Given the description of an element on the screen output the (x, y) to click on. 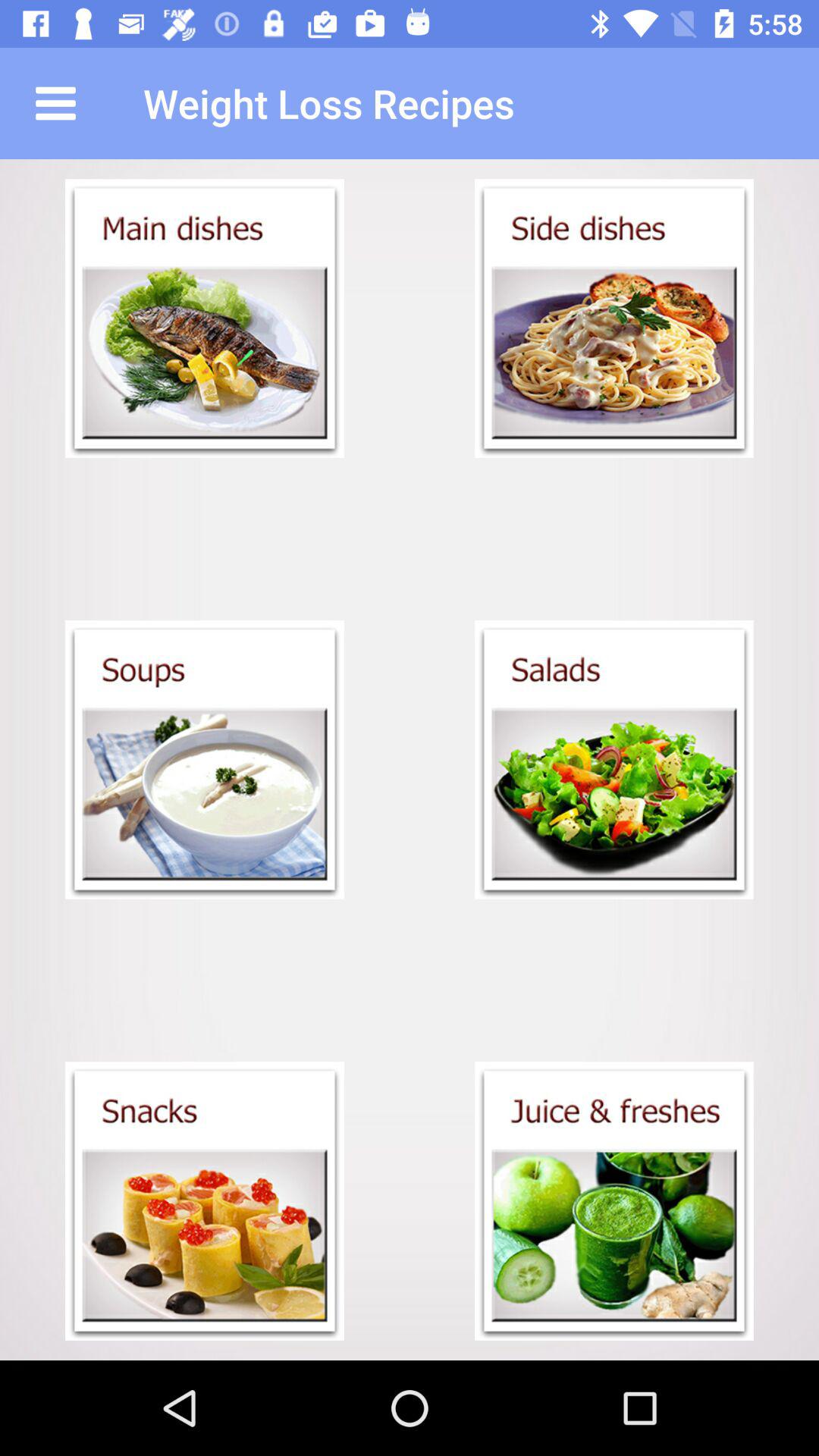
see main dishes category (204, 318)
